Given the description of an element on the screen output the (x, y) to click on. 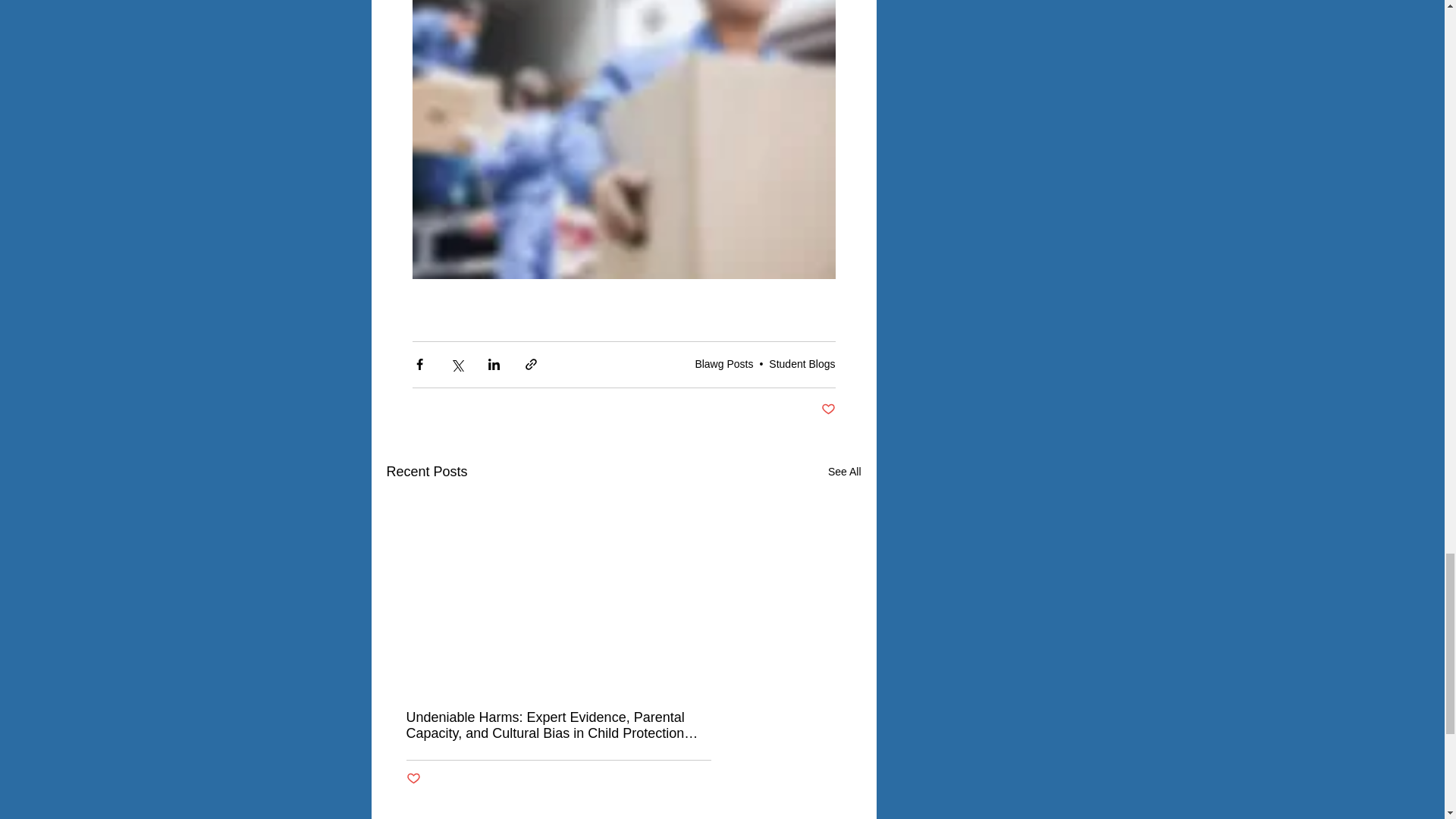
Post not marked as liked (413, 779)
Post not marked as liked (827, 409)
Student Blogs (801, 363)
Blawg Posts (723, 363)
See All (844, 472)
